Given the description of an element on the screen output the (x, y) to click on. 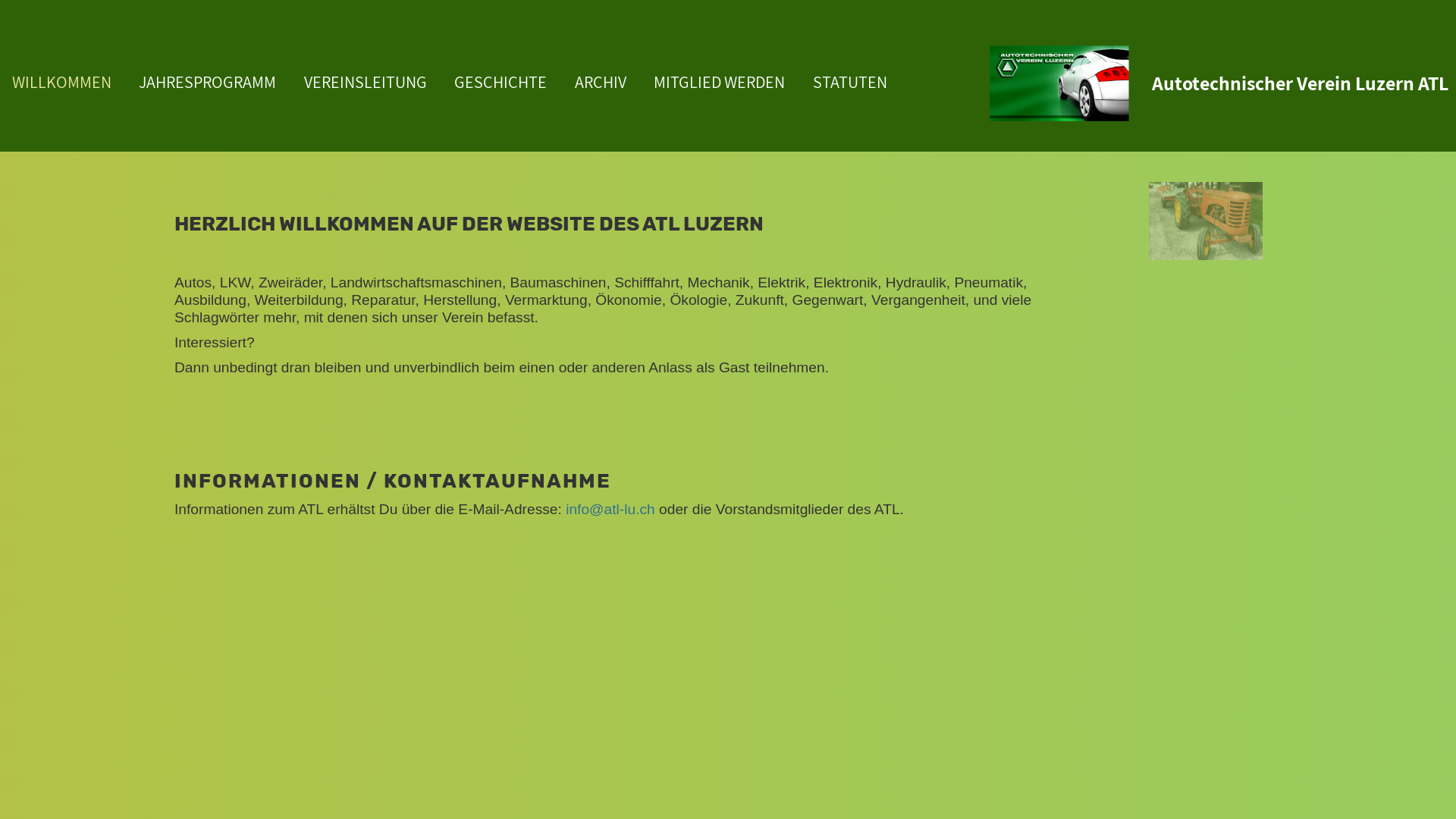
JAHRESPROGRAMM Element type: text (207, 81)
VEREINSLEITUNG Element type: text (365, 81)
ARCHIV Element type: text (600, 81)
STATUTEN Element type: text (849, 81)
MITGLIED WERDEN Element type: text (719, 81)
info@atl-lu.ch Element type: text (610, 509)
Autotechnischer Verein Luzern ATL Element type: text (1299, 82)
WILLKOMMEN Element type: text (61, 81)
GESCHICHTE Element type: text (500, 81)
